Given the description of an element on the screen output the (x, y) to click on. 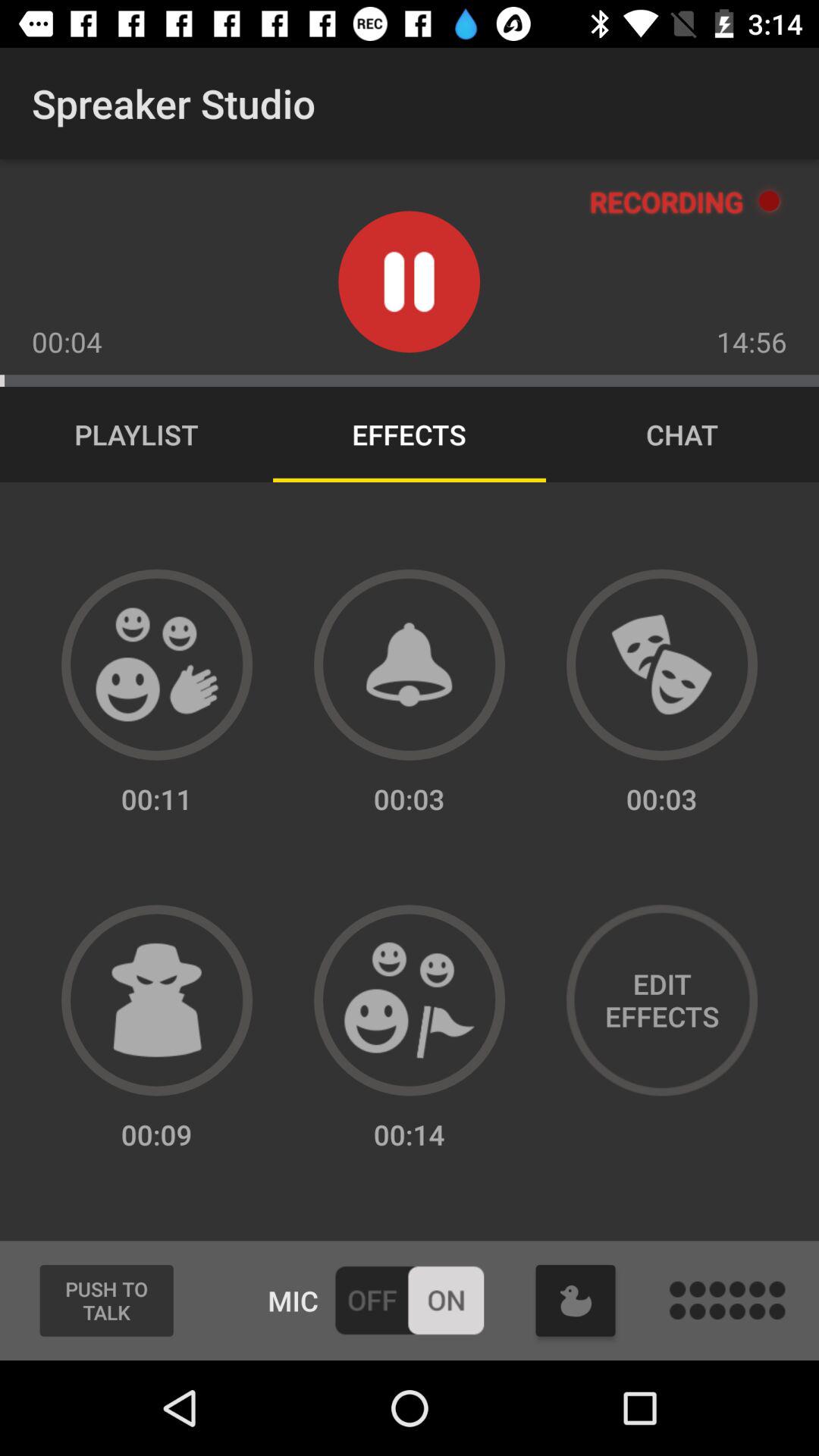
pause button (409, 281)
